Given the description of an element on the screen output the (x, y) to click on. 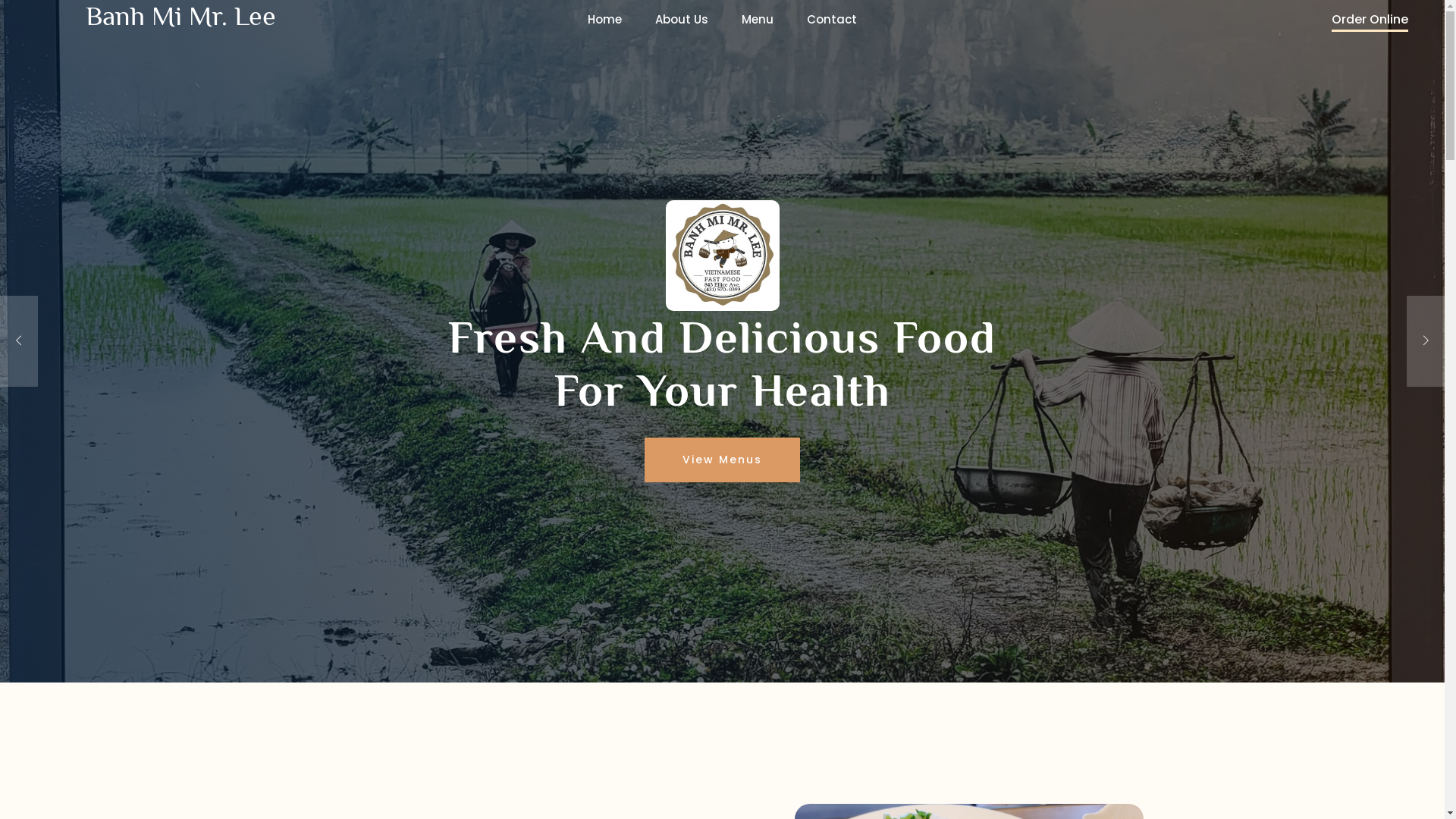
Order Online Element type: text (1369, 20)
Menu Element type: text (757, 19)
Contact Element type: text (831, 19)
Banh Mi Mr. Lee Element type: text (180, 16)
Home Element type: text (604, 19)
View Menus Element type: text (722, 459)
About Us Element type: text (681, 19)
